Given the description of an element on the screen output the (x, y) to click on. 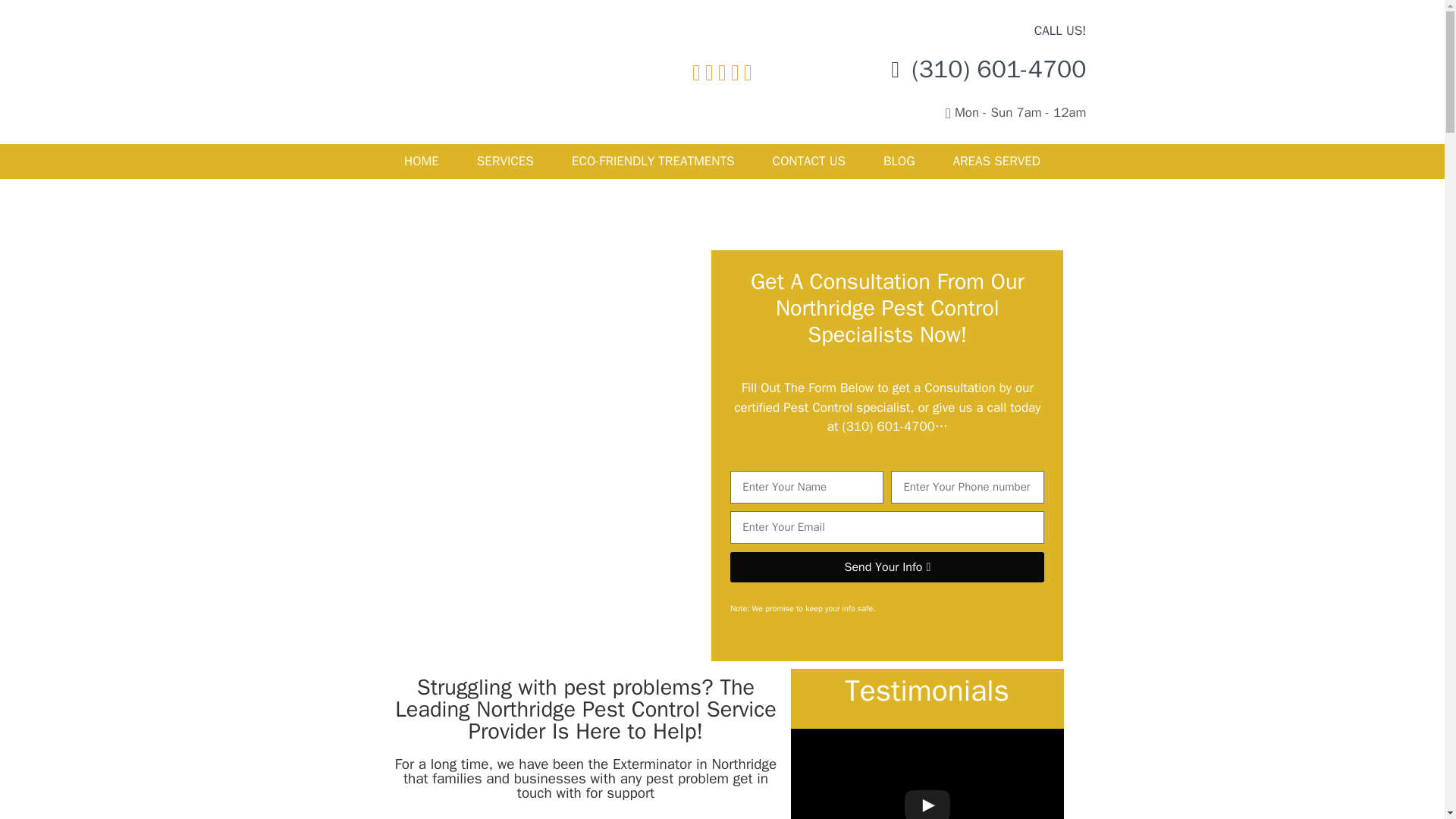
SERVICES (505, 161)
AREAS SERVED (996, 161)
ECO-FRIENDLY TREATMENTS (653, 161)
HOME (421, 161)
BLOG (898, 161)
CONTACT US (809, 161)
